Given the description of an element on the screen output the (x, y) to click on. 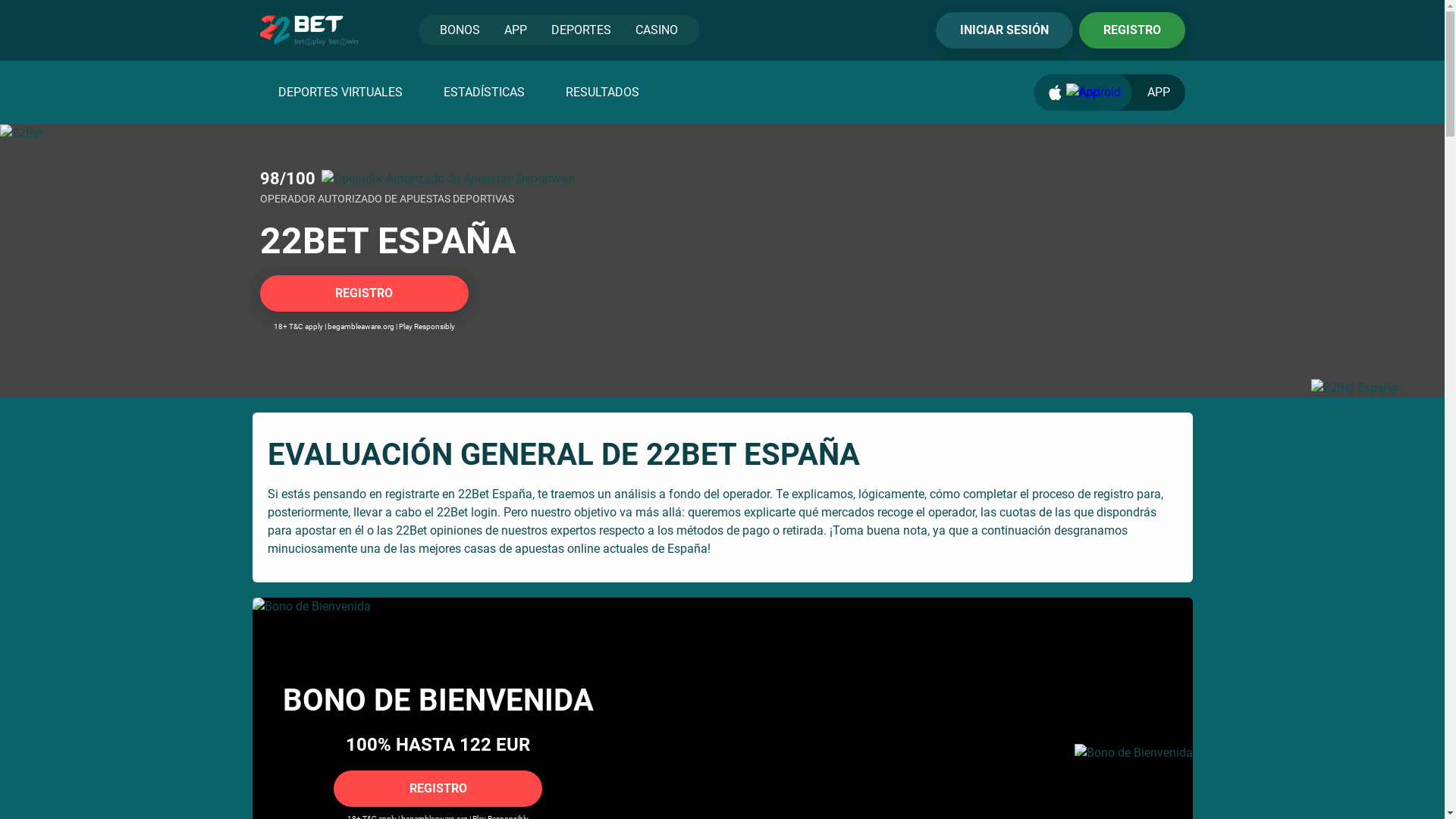
REGISTRO Element type: text (437, 788)
DEPORTES Element type: text (580, 30)
REGISTRO Element type: text (363, 293)
Bono de Bienvenida Element type: hover (1132, 752)
CASINO Element type: text (656, 30)
Operador Autorizado de Apuestas Deportivas Element type: hover (447, 178)
DEPORTES VIRTUALES Element type: text (339, 92)
APP Element type: text (514, 30)
iOS Element type: hover (1053, 92)
22Bet Element type: hover (722, 260)
22Bet Element type: hover (308, 30)
RESULTADOS Element type: text (602, 92)
App Element type: hover (1082, 92)
APP Element type: text (1109, 92)
Android Element type: hover (1093, 92)
REGISTRO Element type: text (1131, 30)
BONOS Element type: text (459, 30)
